Given the description of an element on the screen output the (x, y) to click on. 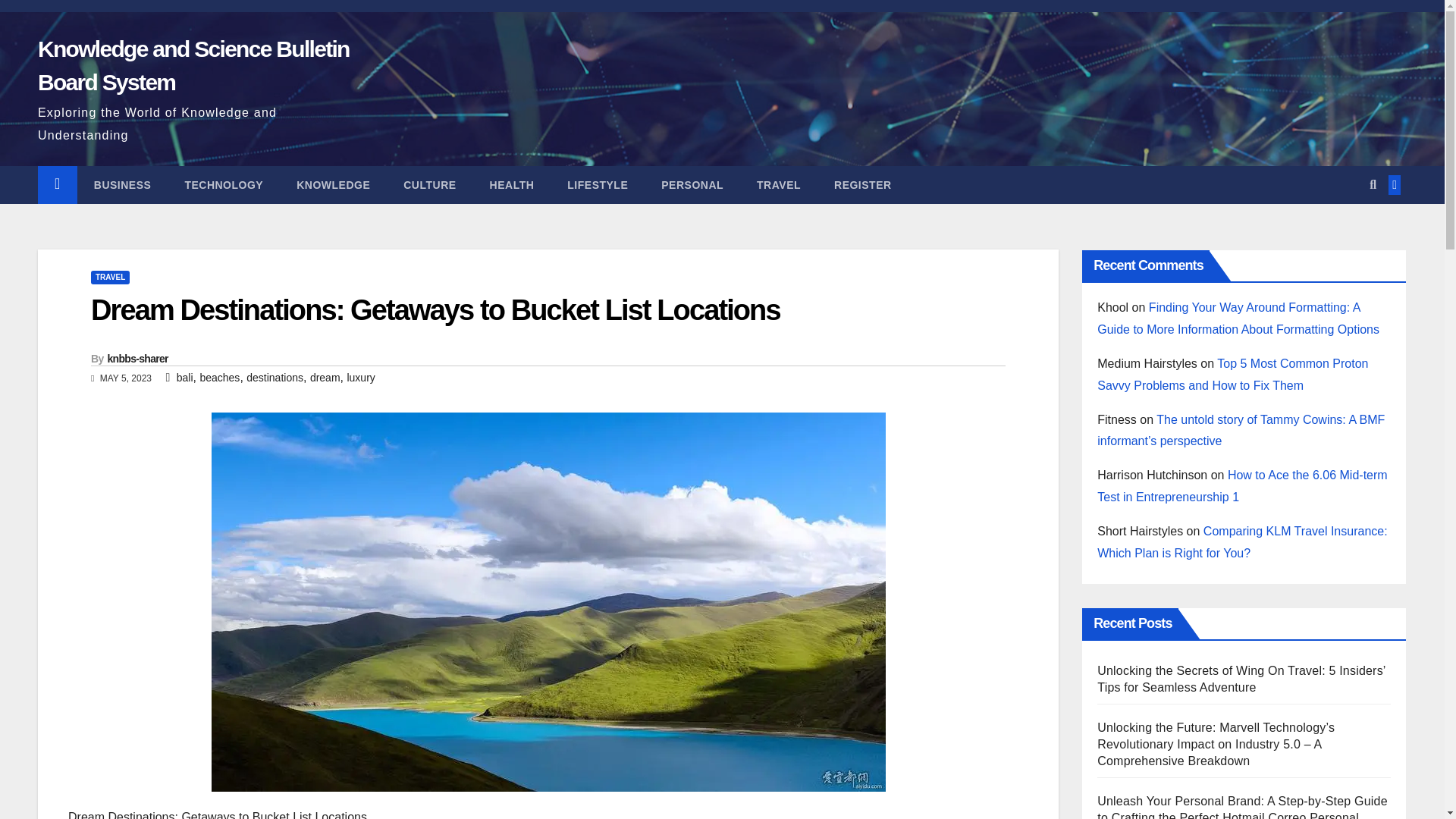
luxury (360, 377)
Knowledge (333, 184)
PERSONAL (692, 184)
REGISTER (862, 184)
dream (325, 377)
Technology (223, 184)
Travel (777, 184)
CULTURE (429, 184)
Business (122, 184)
Dream Destinations: Getaways to Bucket List Locations (435, 309)
Lifestyle (597, 184)
knbbs-sharer (137, 358)
Health (512, 184)
LIFESTYLE (597, 184)
